Given the description of an element on the screen output the (x, y) to click on. 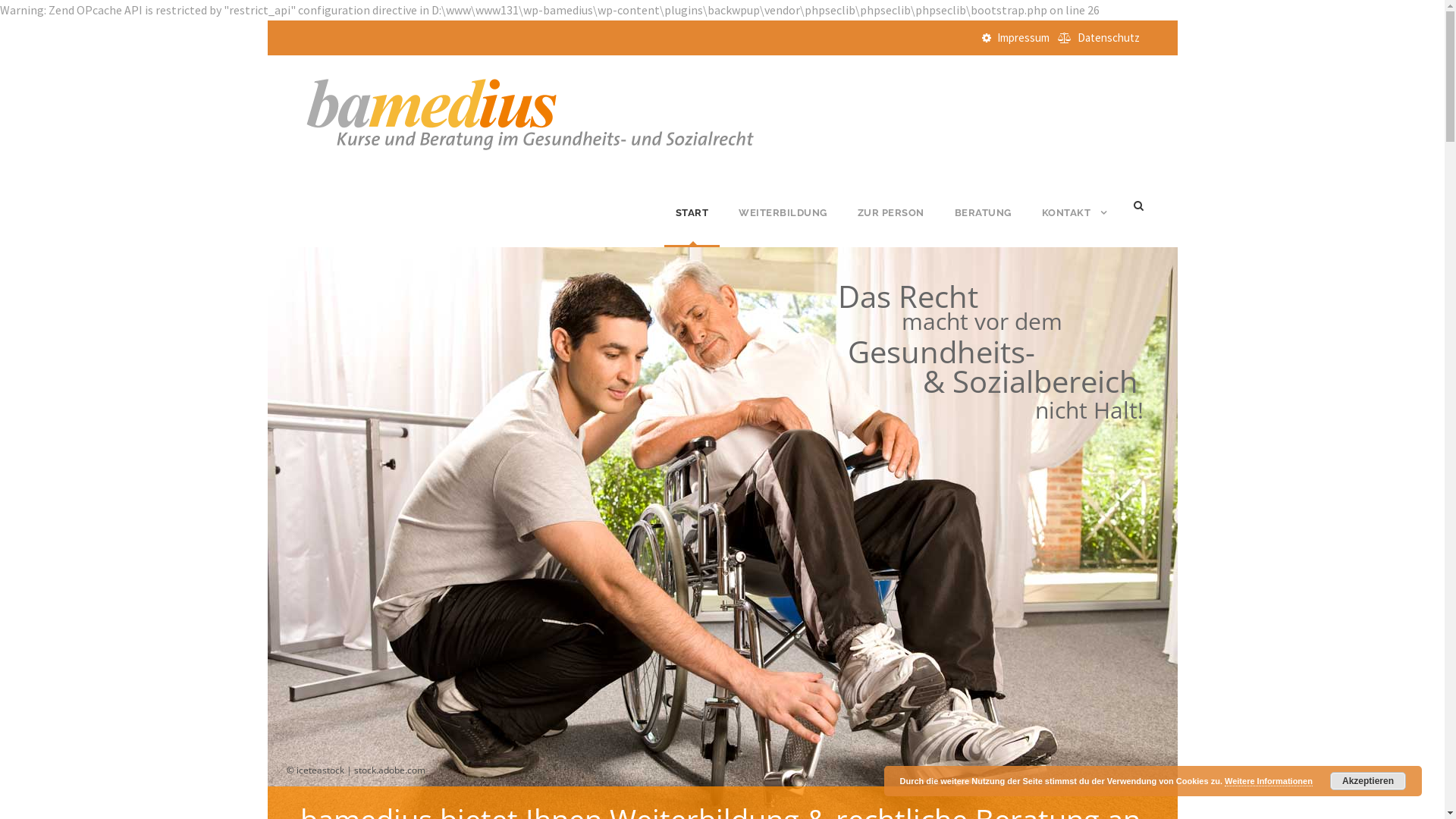
START Element type: text (691, 225)
BERATUNG Element type: text (981, 225)
Akzeptieren Element type: text (1367, 780)
ZUR PERSON Element type: text (889, 225)
Weitere Informationen Element type: text (1268, 781)
Datenschutz Element type: text (1107, 37)
Impressum Element type: text (1022, 37)
KONTAKT Element type: text (1074, 225)
logo-bamedius Element type: hover (528, 111)
WEITERBILDUNG Element type: text (782, 225)
